Given the description of an element on the screen output the (x, y) to click on. 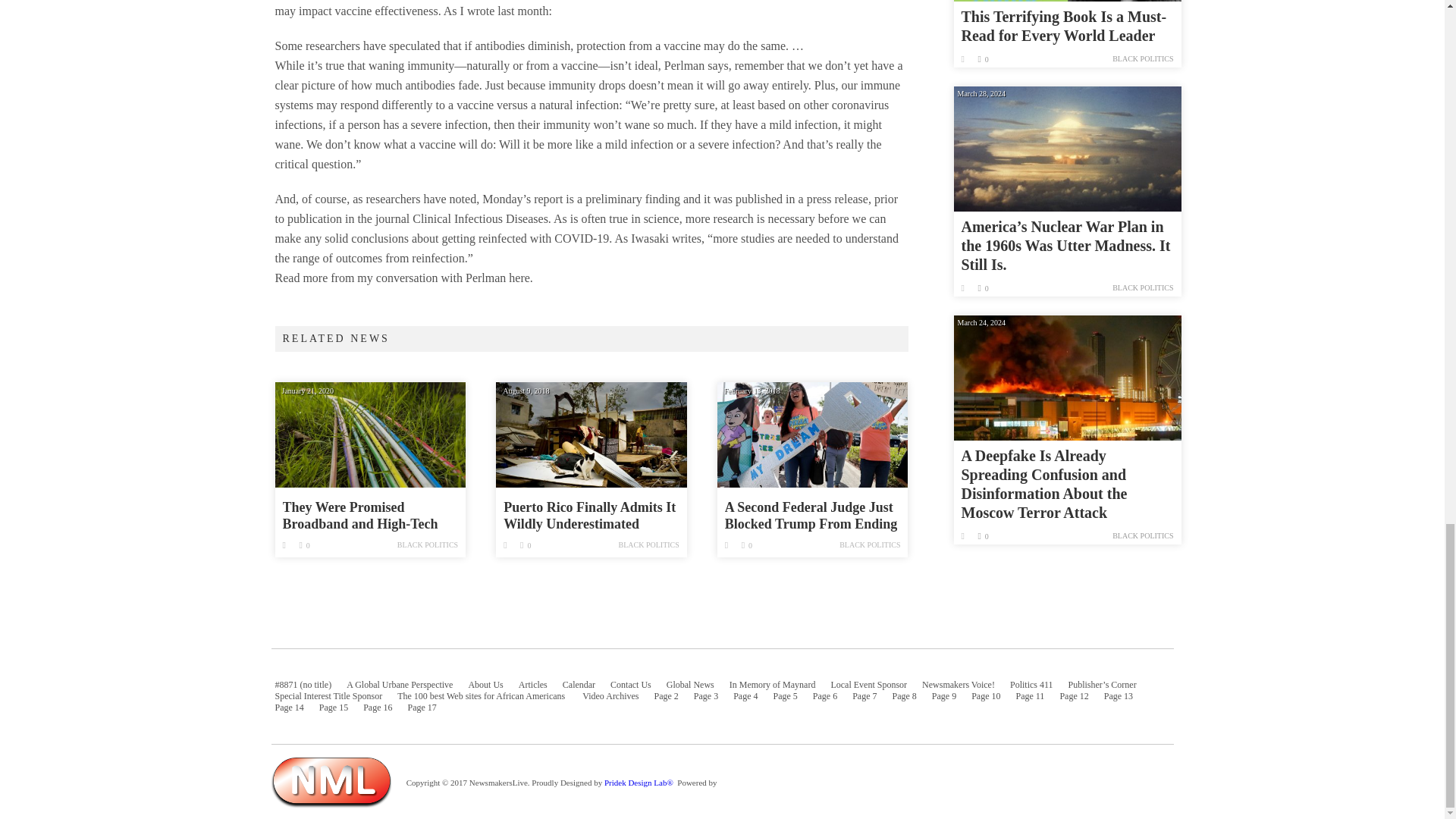
A Second Federal Judge Just Blocked Trump From Ending DACA (813, 515)
A Second Federal Judge Just Blocked Trump From Ending DACA (812, 434)
